Given the description of an element on the screen output the (x, y) to click on. 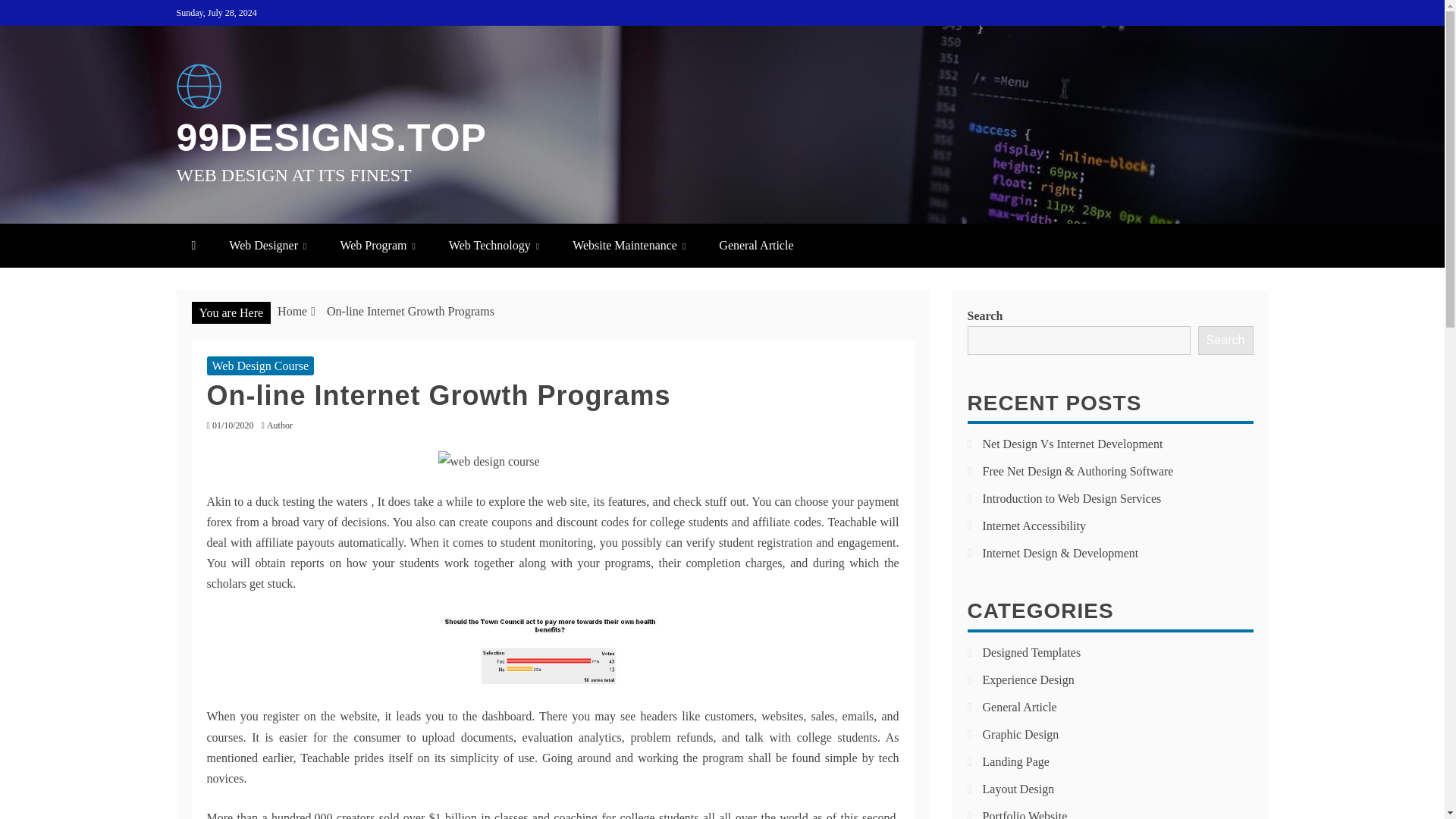
Author (282, 425)
Web Design Course (260, 365)
Web Technology (493, 244)
General Article (755, 244)
Website Maintenance (628, 244)
99DESIGNS.TOP (331, 137)
Home (292, 310)
Web Designer (267, 244)
Web Program (376, 244)
